Given the description of an element on the screen output the (x, y) to click on. 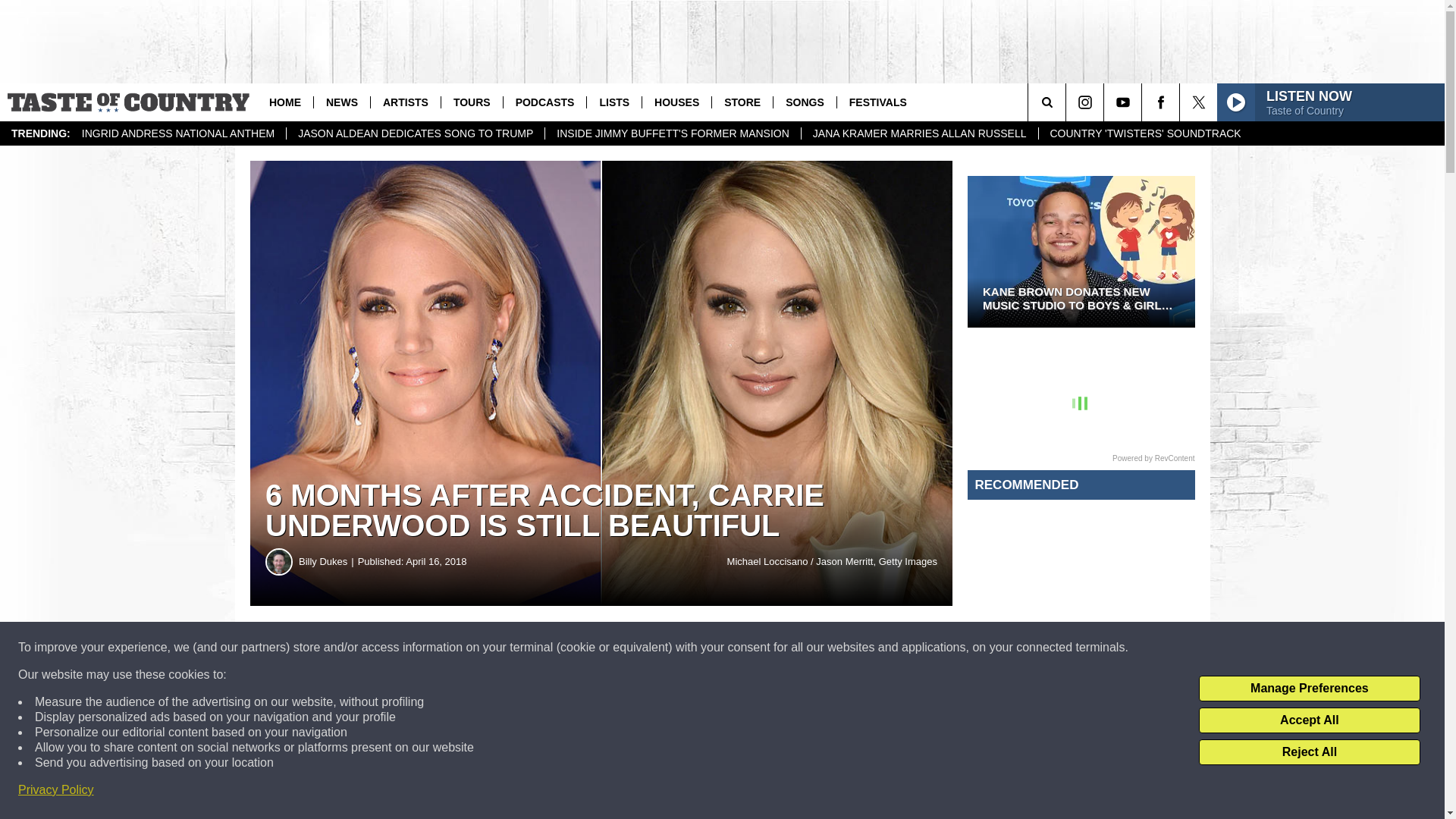
SEARCH (1068, 102)
HOUSES (676, 102)
TWEET (741, 647)
COUNTRY 'TWISTERS' SOUNDTRACK (1144, 133)
NEWS (341, 102)
SHARE (460, 647)
Billy Dukes (328, 561)
SEARCH (1068, 102)
Billy Dukes (278, 561)
TWEET (741, 647)
STORE (742, 102)
Visit us on Youtube (1122, 102)
FESTIVALS (876, 102)
SEARCH (1068, 102)
INSIDE JIMMY BUFFETT'S FORMER MANSION (672, 133)
